Given the description of an element on the screen output the (x, y) to click on. 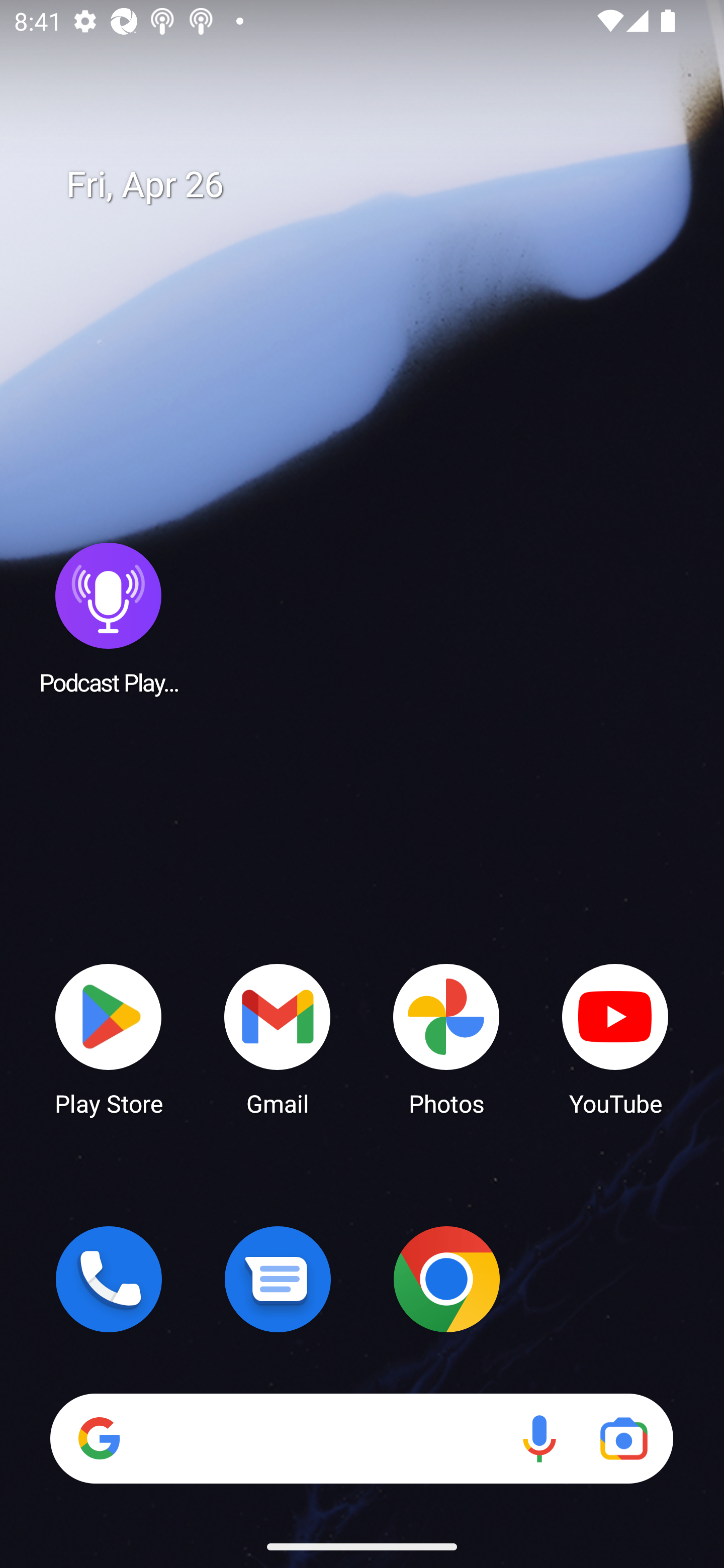
Fri, Apr 26 (375, 184)
Podcast Player (108, 617)
Play Store (108, 1038)
Gmail (277, 1038)
Photos (445, 1038)
YouTube (615, 1038)
Phone (108, 1279)
Messages (277, 1279)
Chrome (446, 1279)
Search Voice search Google Lens (361, 1438)
Voice search (539, 1438)
Google Lens (623, 1438)
